Given the description of an element on the screen output the (x, y) to click on. 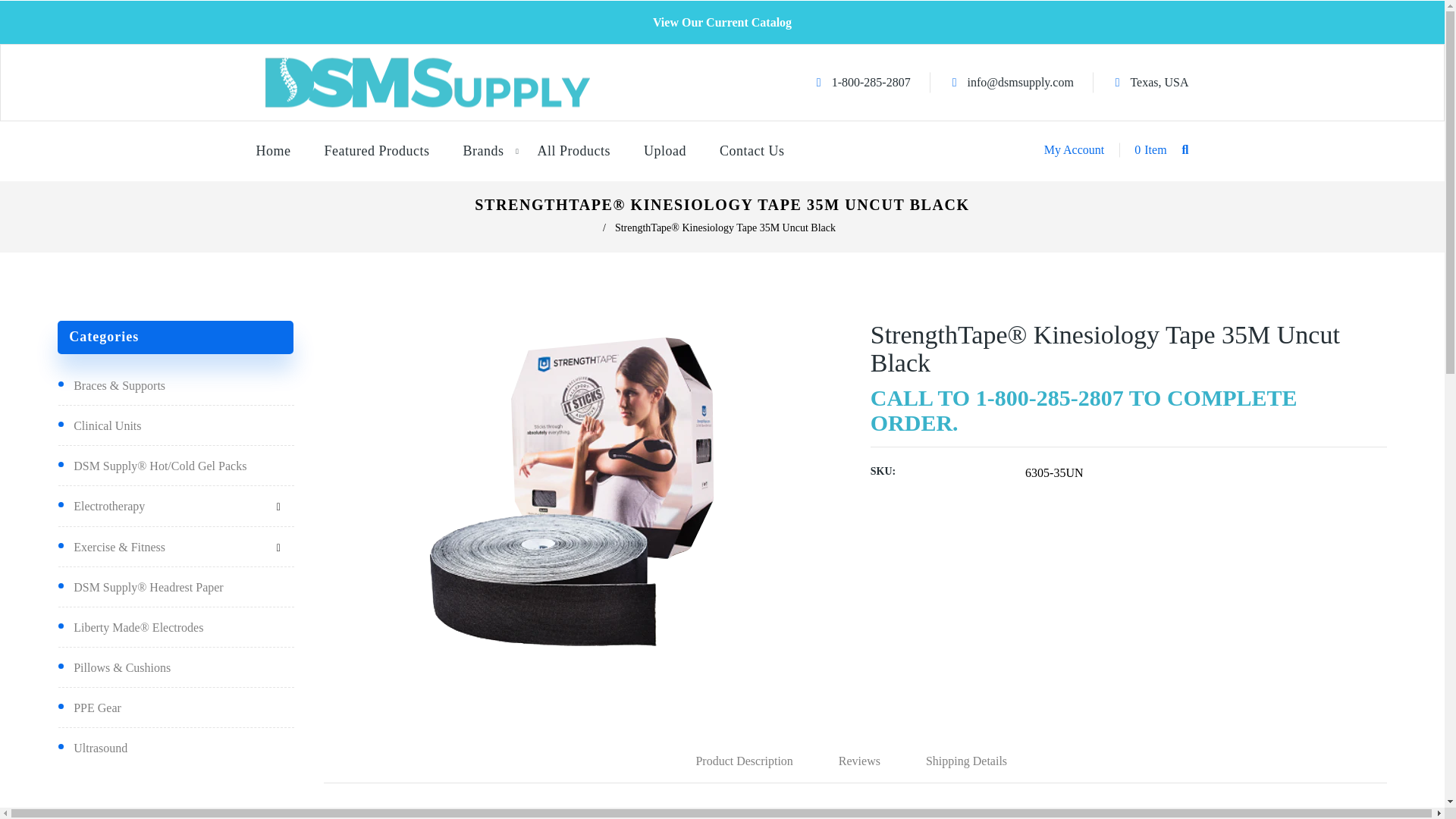
All Products (573, 150)
Upload (664, 150)
View Our Current Catalog (722, 22)
Texas, USA (1152, 82)
Featured Products (376, 150)
My Account (1074, 149)
Contact Us (751, 150)
Log in (1139, 149)
Brands (1074, 149)
Electrotherapy (482, 150)
Clinical Units (166, 506)
